Given the description of an element on the screen output the (x, y) to click on. 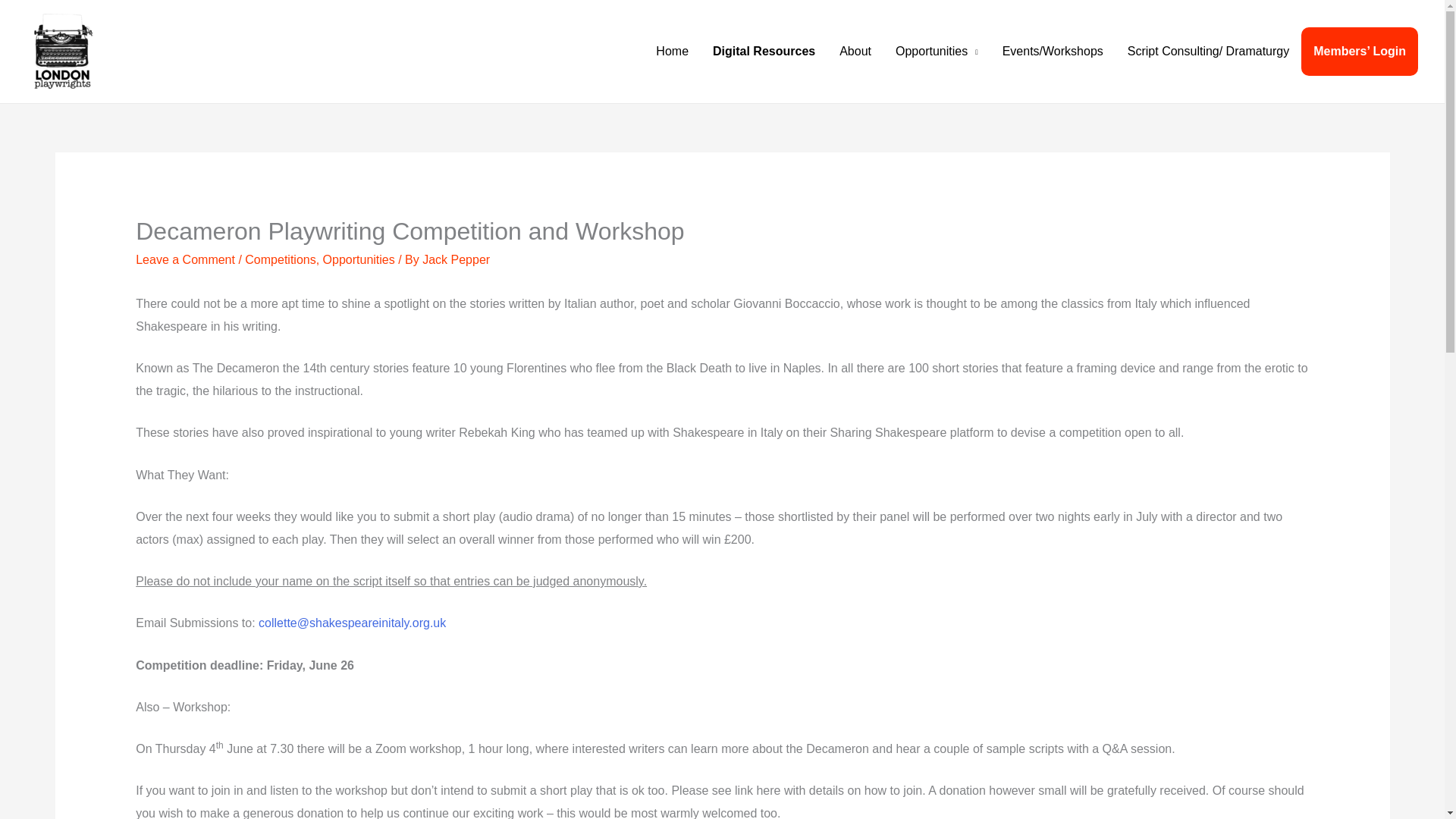
Home (671, 51)
Jack Pepper (455, 259)
Digital Resources (763, 51)
Opportunities (936, 51)
Leave a Comment (184, 259)
Opportunities (358, 259)
Competitions (279, 259)
View all posts by Jack Pepper (455, 259)
About (855, 51)
